Given the description of an element on the screen output the (x, y) to click on. 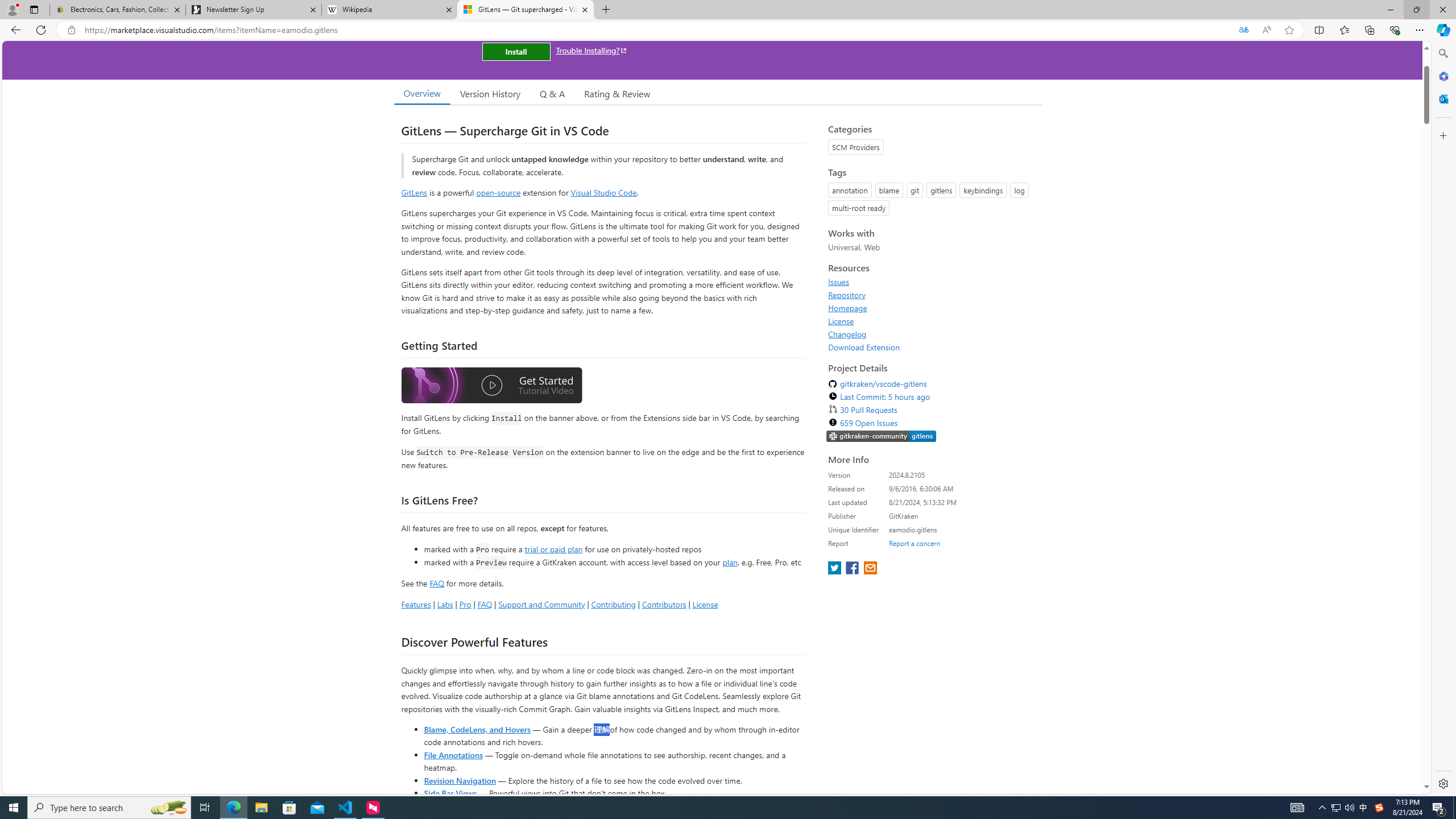
Blame, CodeLens, and Hovers (476, 728)
Repository (847, 294)
Rating & Review (618, 92)
open-source (498, 192)
Labs (444, 603)
https://slack.gitkraken.com// (881, 436)
plan (730, 562)
